Given the description of an element on the screen output the (x, y) to click on. 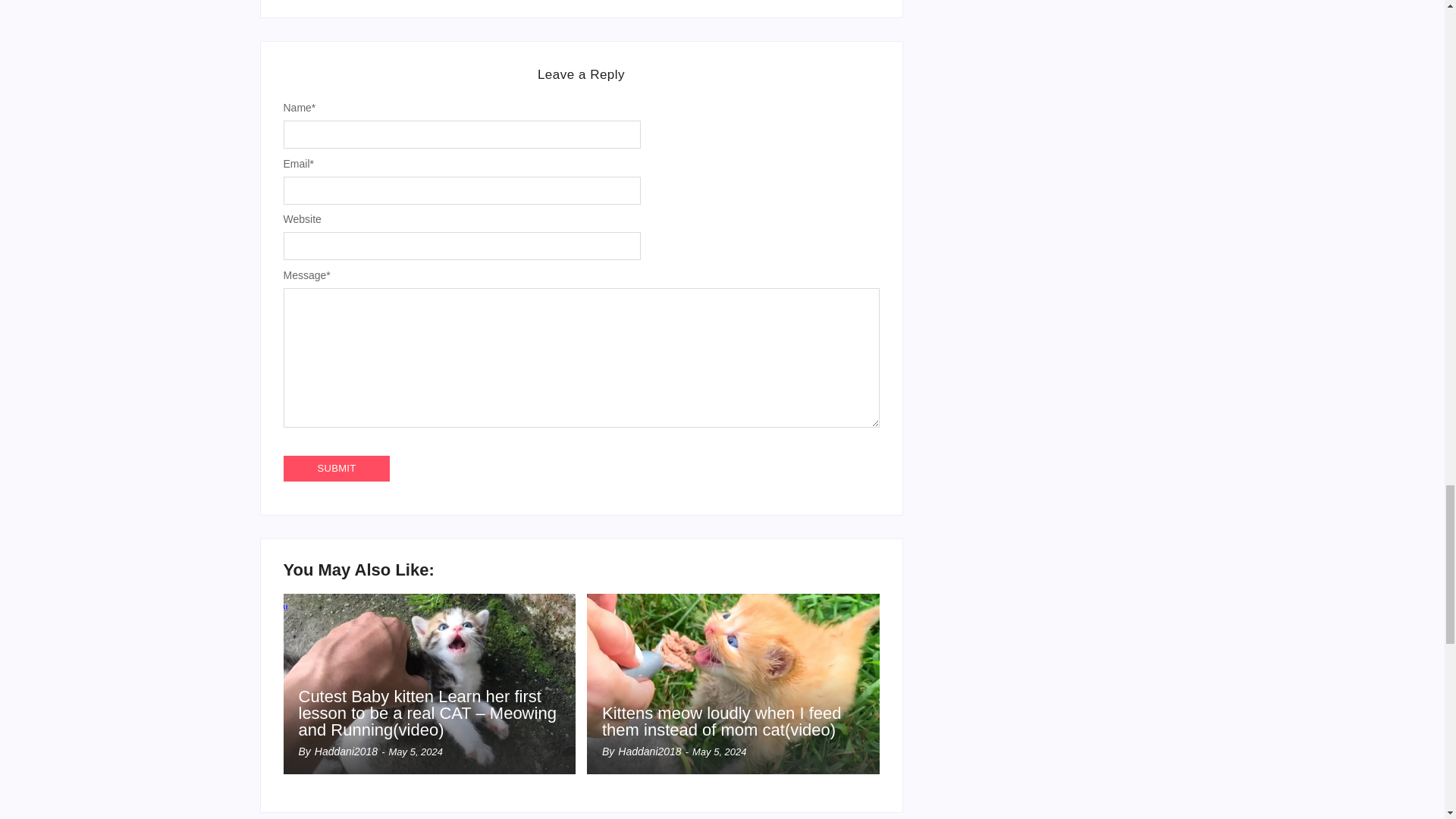
Submit (336, 468)
